Given the description of an element on the screen output the (x, y) to click on. 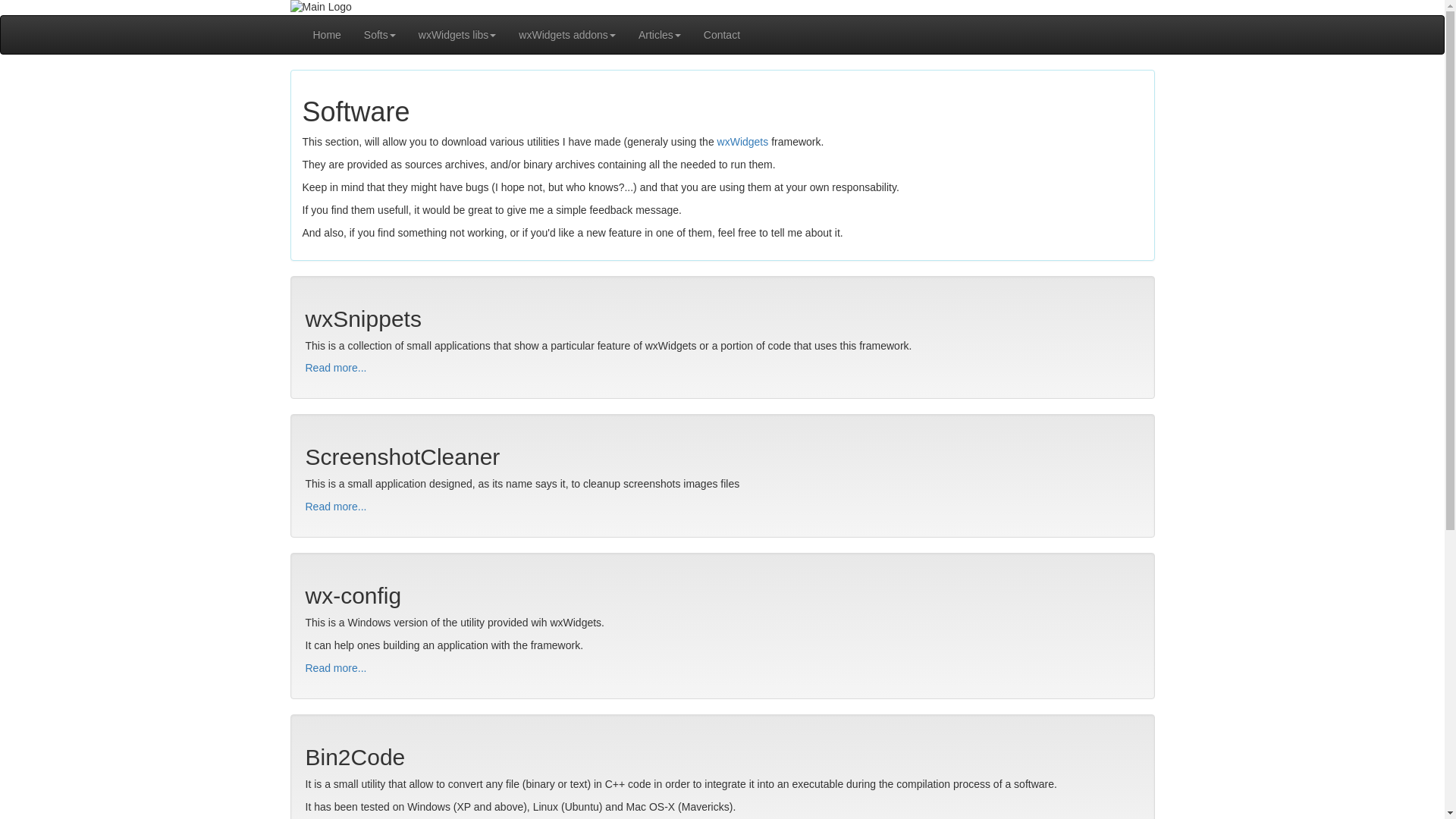
Softs (379, 34)
wxWidgets addons (566, 34)
Home (326, 34)
Articles (660, 34)
Contact (722, 34)
wxWidgets libs (457, 34)
wxWidgets website (742, 141)
